Given the description of an element on the screen output the (x, y) to click on. 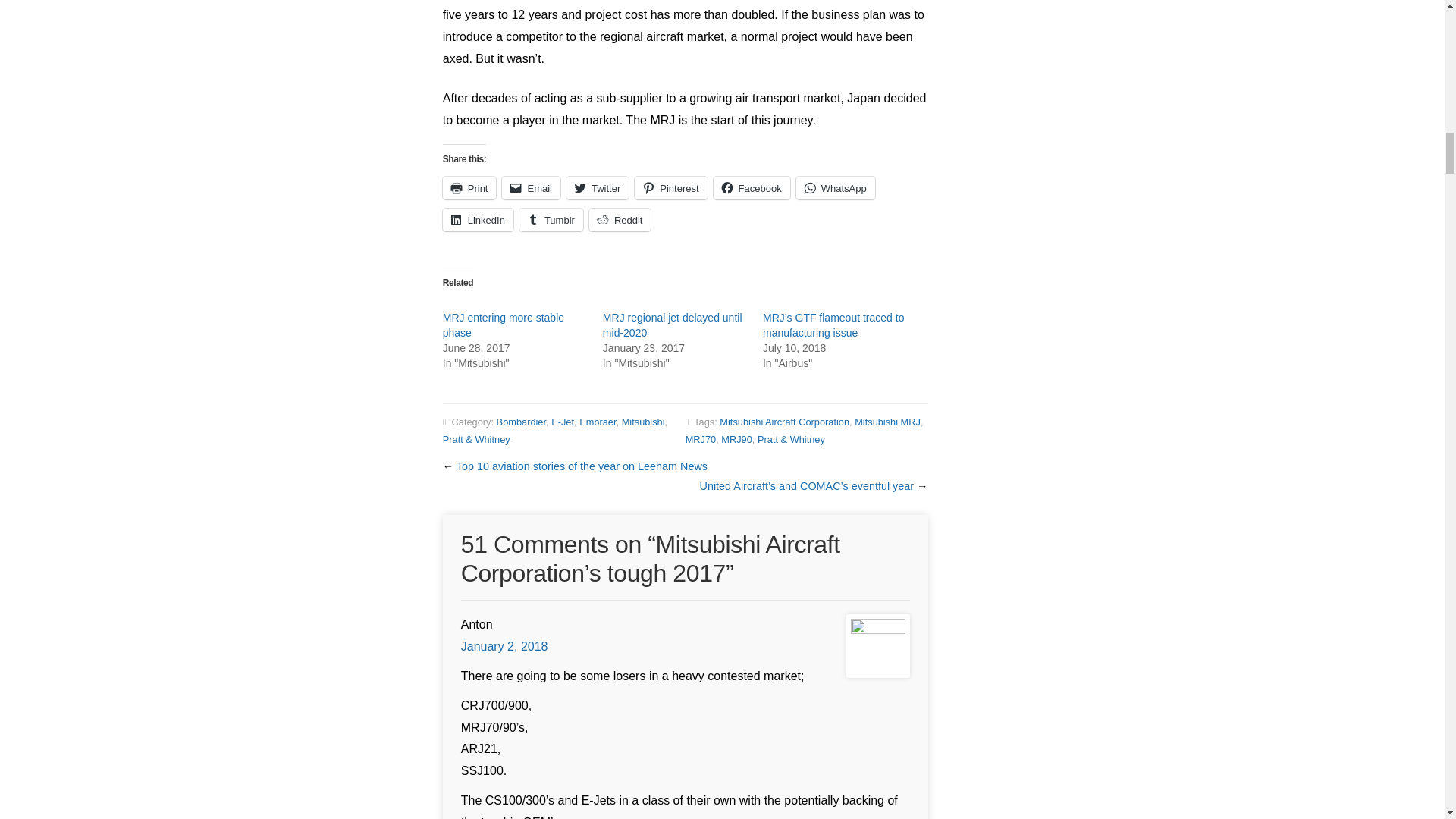
Twitter (597, 187)
Tumblr (551, 219)
Click to share on LinkedIn (477, 219)
Click to share on Facebook (751, 187)
Mitsubishi (643, 421)
Print (469, 187)
Bombardier (521, 421)
Mitsubishi Aircraft Corporation (783, 421)
MRJ entering more stable phase (503, 325)
Mitsubishi MRJ (887, 421)
Click to share on WhatsApp (835, 187)
MRJ entering more stable phase (503, 325)
Reddit (619, 219)
E-Jet (562, 421)
WhatsApp (835, 187)
